Given the description of an element on the screen output the (x, y) to click on. 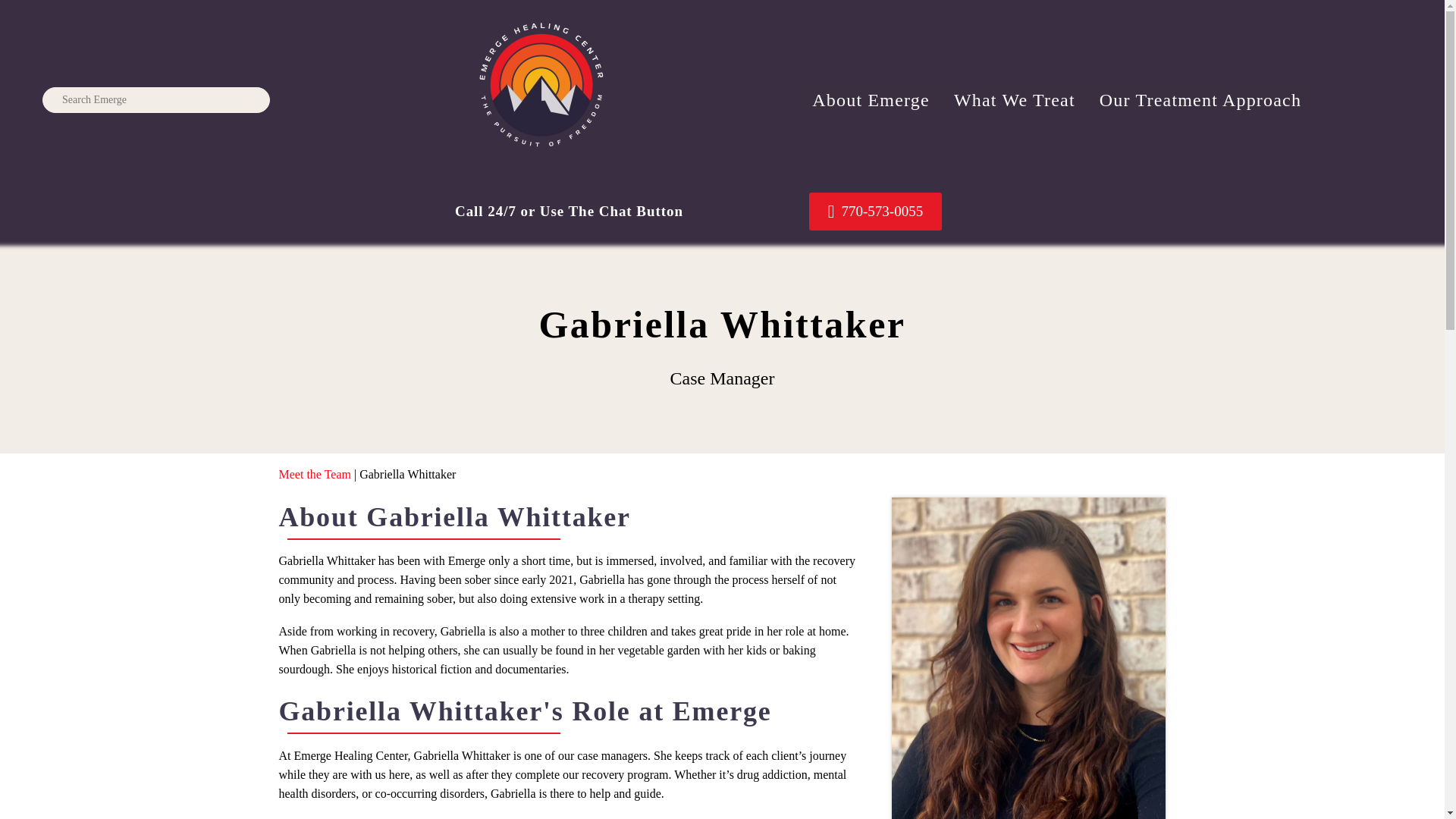
What We Treat (1014, 100)
About Emerge (870, 100)
Emerge Home (541, 84)
Our Treatment Approach (1200, 100)
770-573-0055 (875, 211)
